Given the description of an element on the screen output the (x, y) to click on. 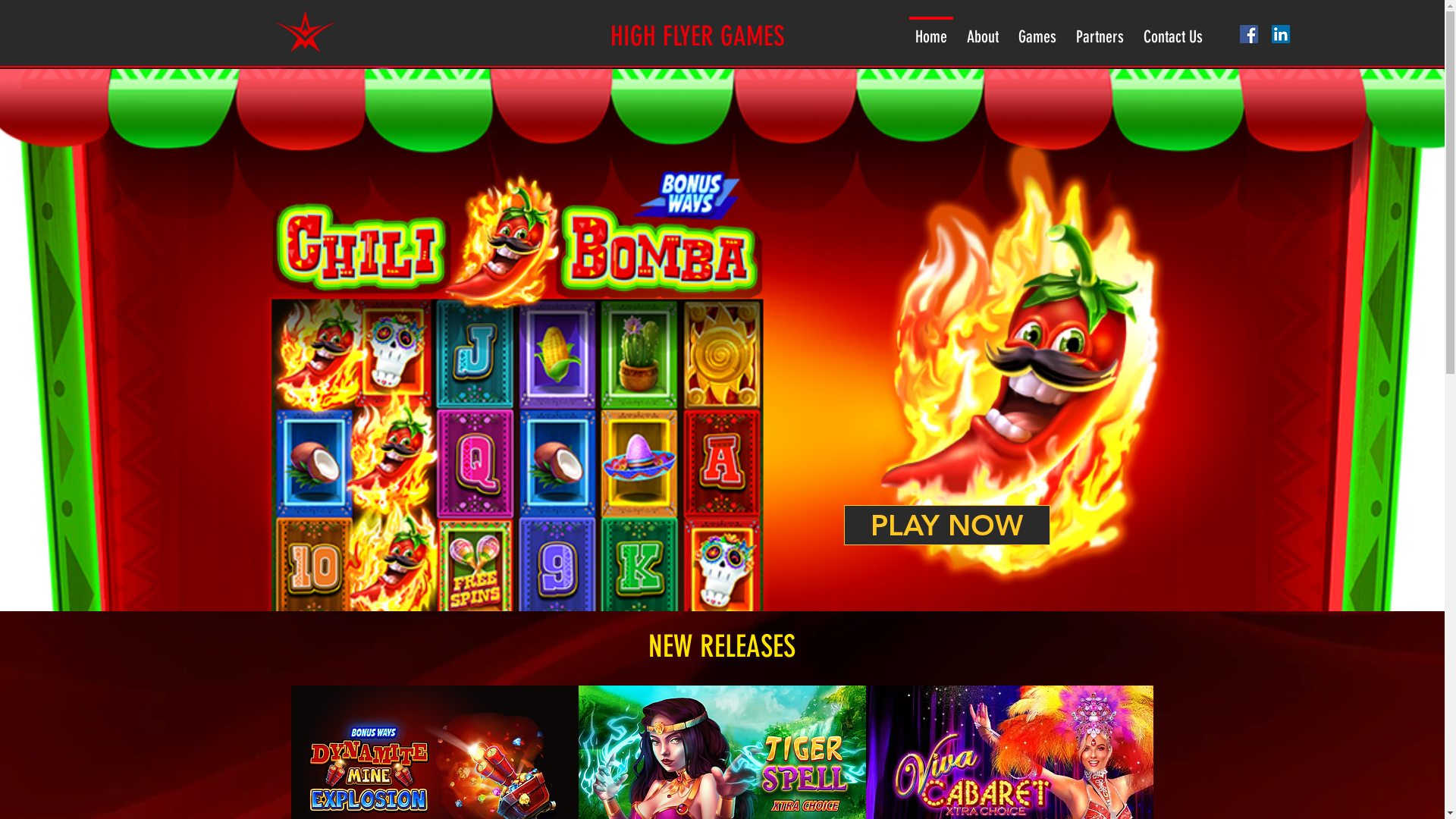
Home Element type: text (931, 29)
Partners Element type: text (1099, 29)
PLAY NOW Element type: text (946, 525)
Contact Us Element type: text (1172, 29)
Games Element type: text (1037, 29)
About Element type: text (982, 29)
